Given the description of an element on the screen output the (x, y) to click on. 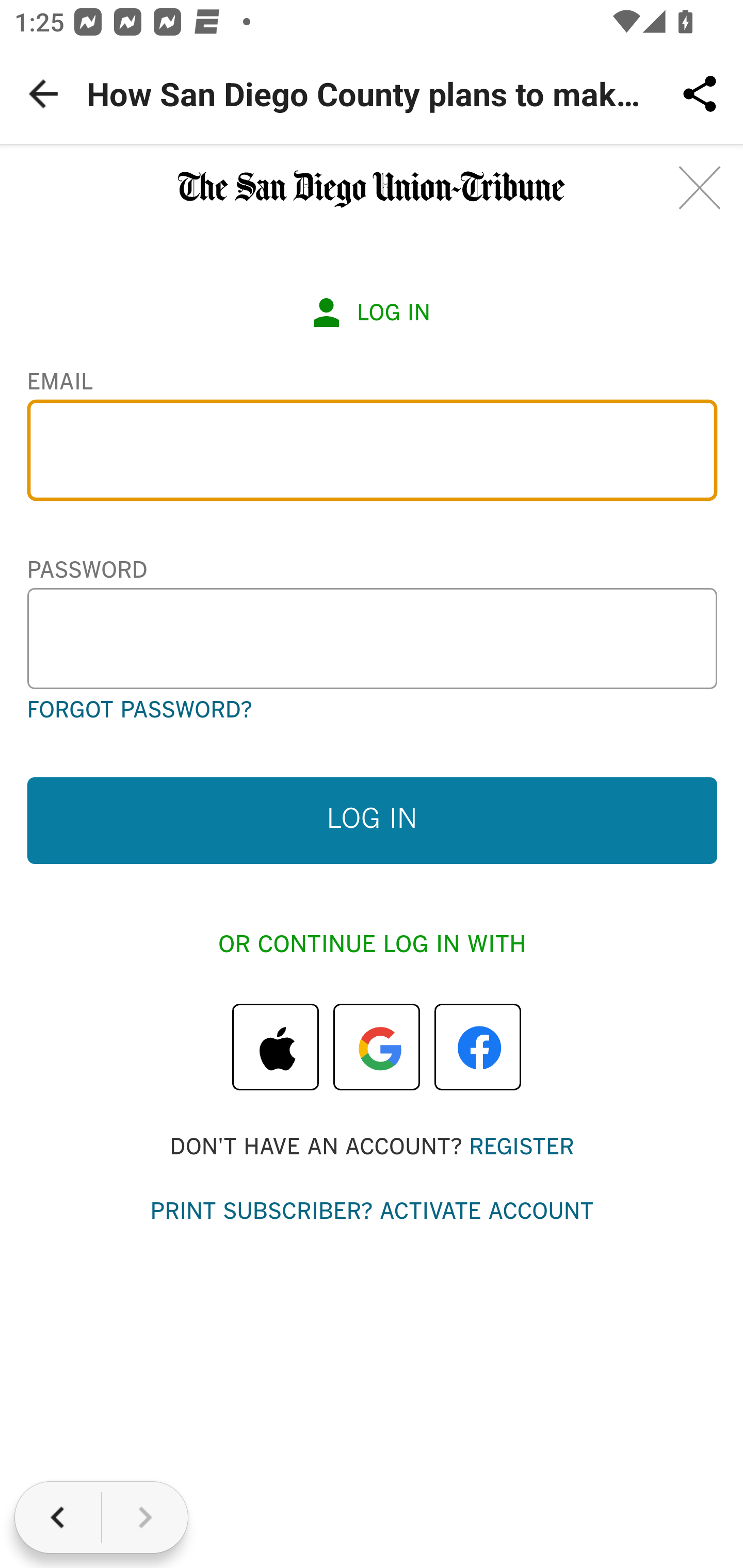
FORGOT PASSWORD? (138, 710)
LOG IN (371, 819)
REGISTER (520, 1147)
PRINT SUBSCRIBER? ACTIVATE ACCOUNT (371, 1212)
